Given the description of an element on the screen output the (x, y) to click on. 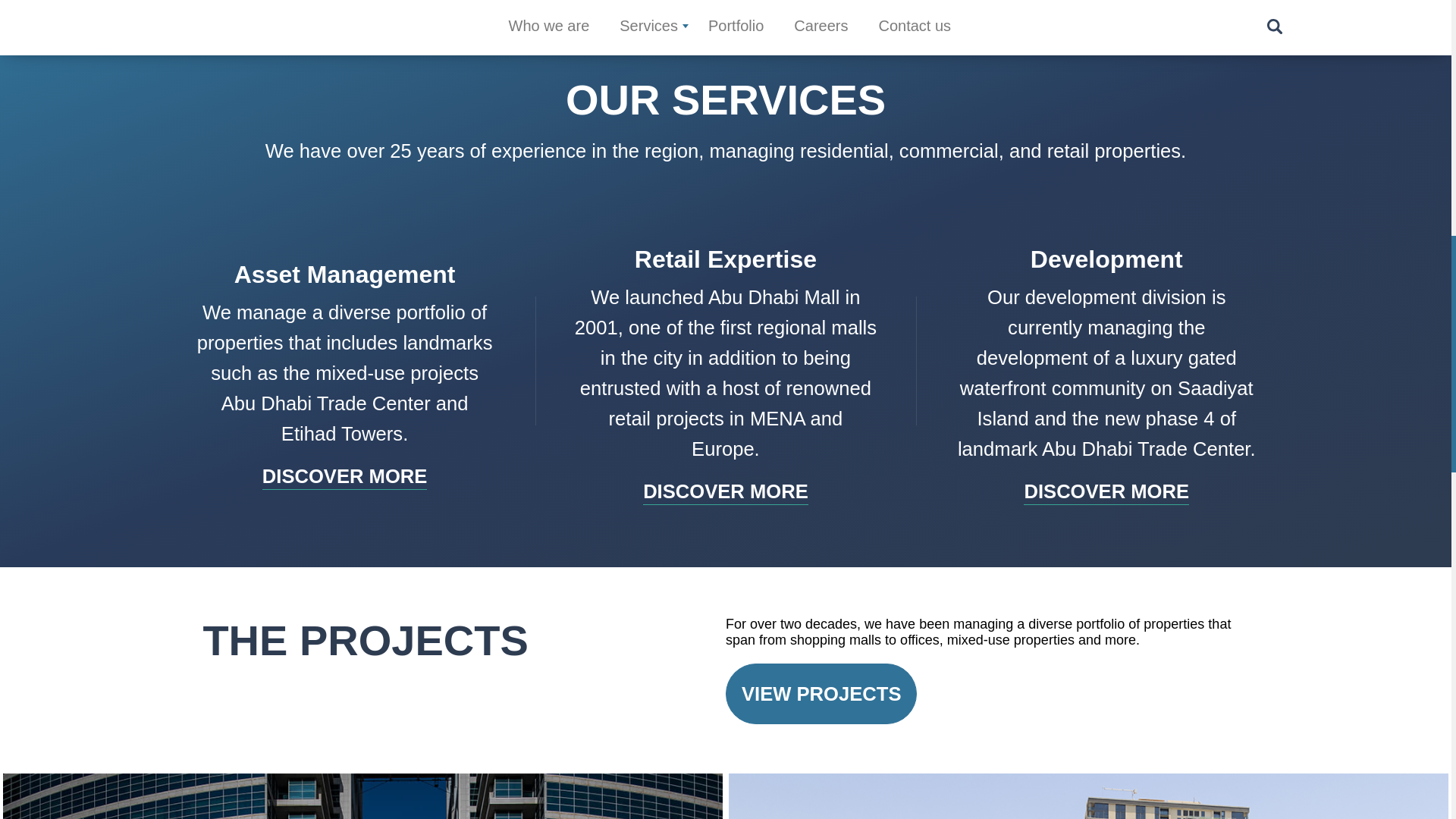
DISCOVER MORE (1106, 491)
DISCOVER MORE (345, 476)
VIEW PROJECTS (821, 693)
DISCOVER MORE (725, 491)
